Given the description of an element on the screen output the (x, y) to click on. 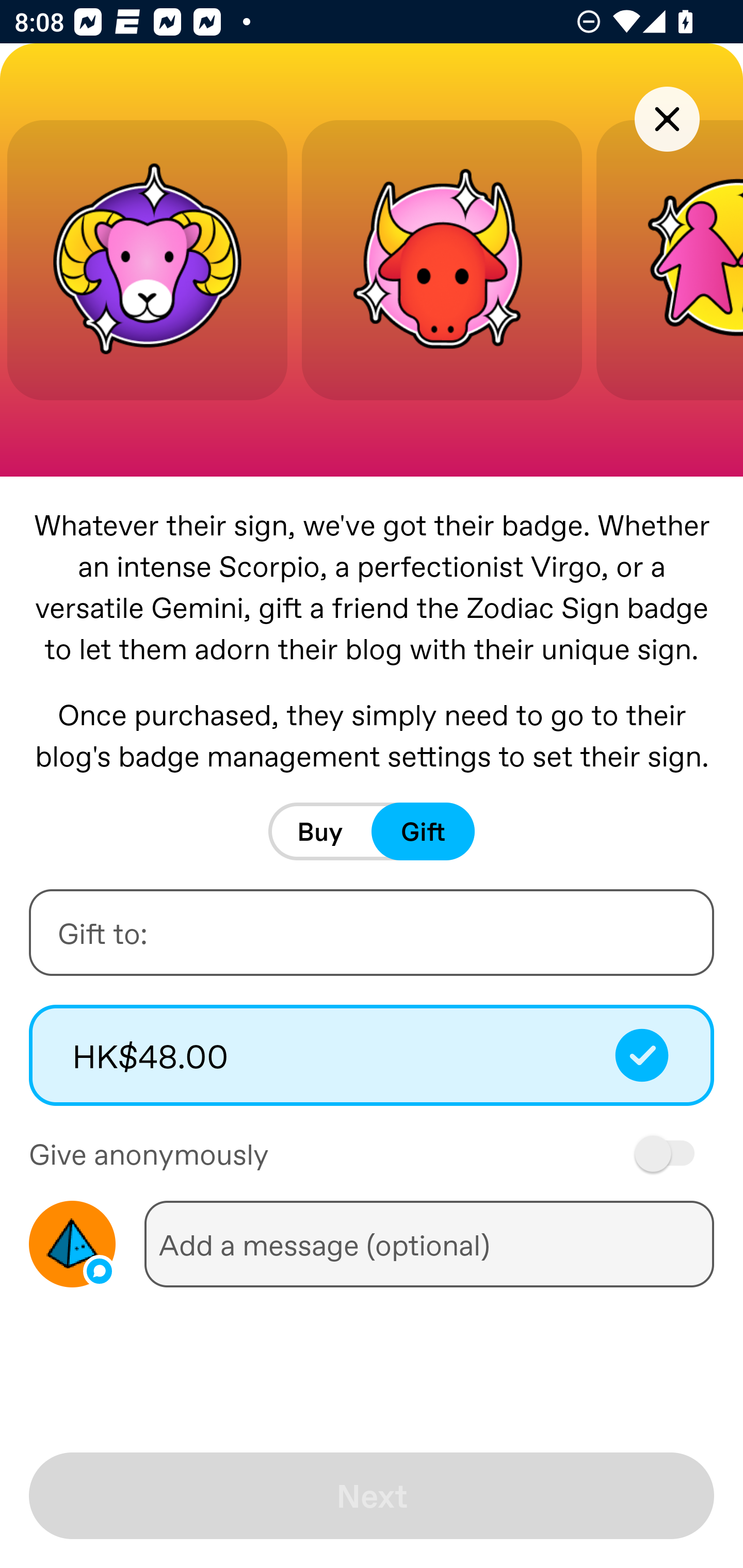
Buy (319, 831)
Gift (423, 831)
Gift to: (371, 932)
Add a message (optional) (429, 1244)
Next (371, 1495)
